Given the description of an element on the screen output the (x, y) to click on. 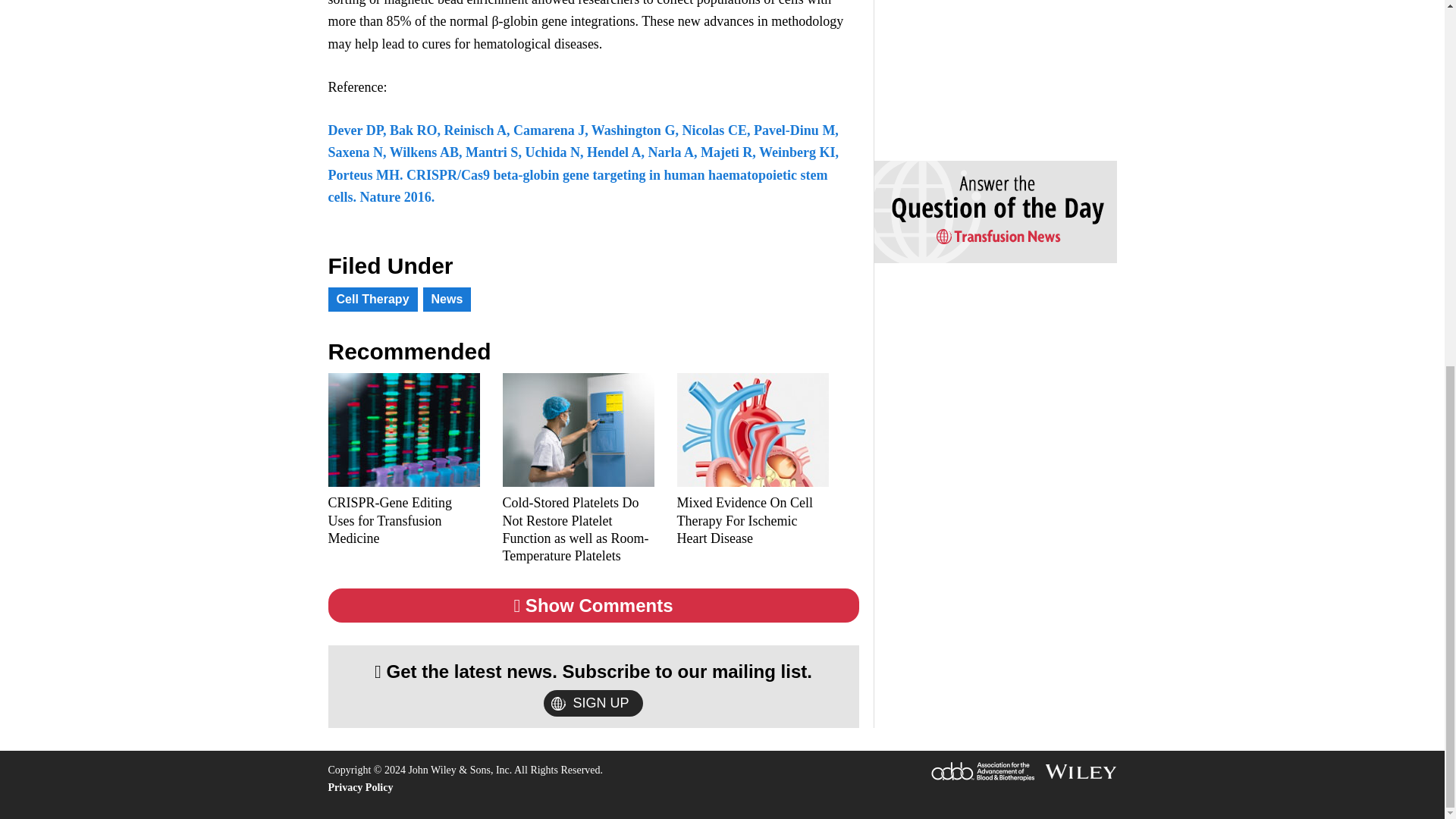
CRISPR-Gene Editing Uses for Transfusion Medicine (403, 520)
News (447, 299)
Cell Therapy (371, 299)
Get the latest news. Subscribe to our mailing list. SIGN UP (593, 686)
Mixed Evidence On Cell Therapy For Ischemic Heart Disease (752, 520)
3rd party ad content (986, 67)
